Given the description of an element on the screen output the (x, y) to click on. 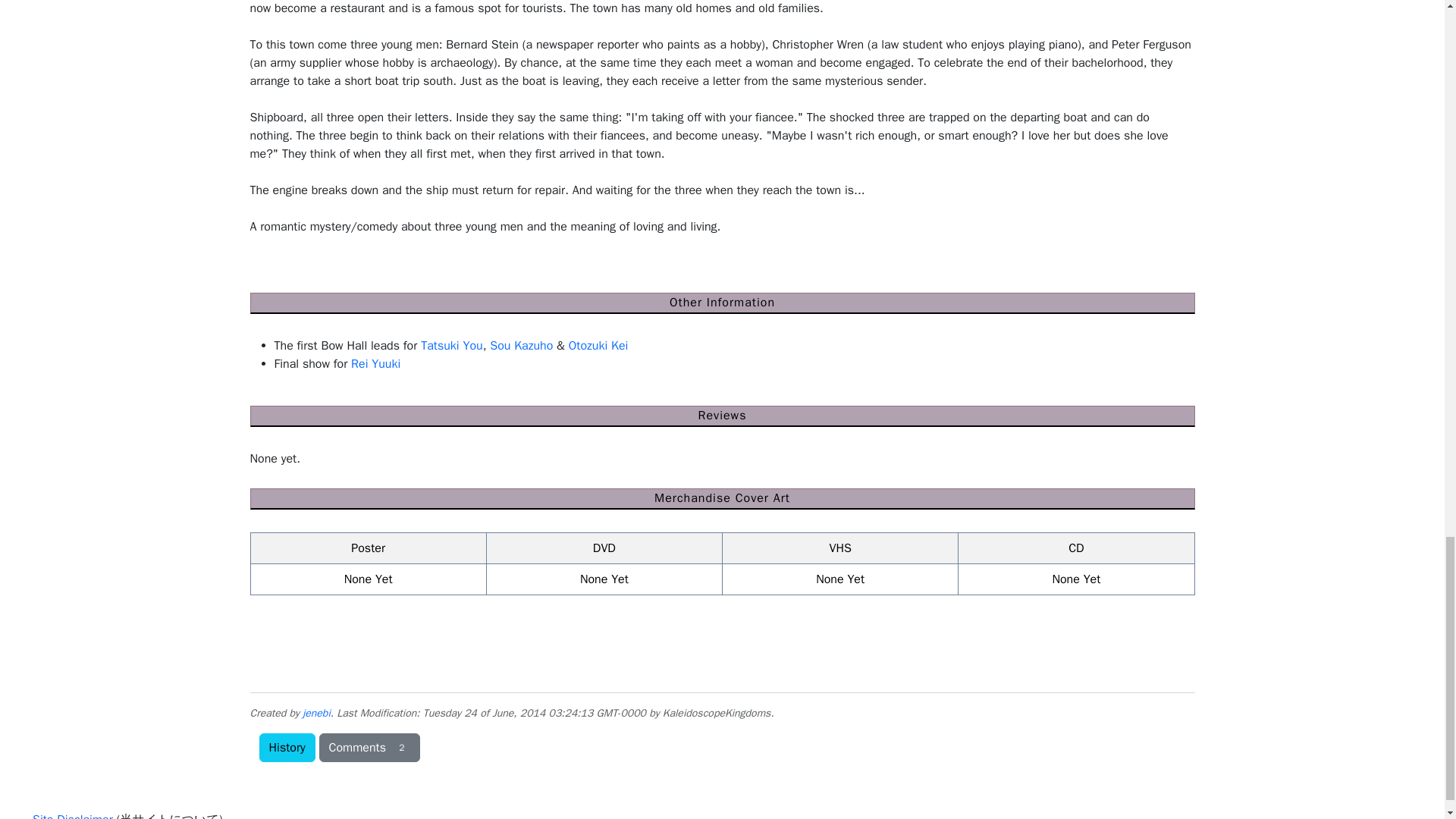
jenebi (316, 712)
Sou Kazuho (521, 345)
History (287, 747)
Otozuki Kei (598, 345)
Tatsuki You (451, 345)
Rei Yuuki (375, 363)
